Given the description of an element on the screen output the (x, y) to click on. 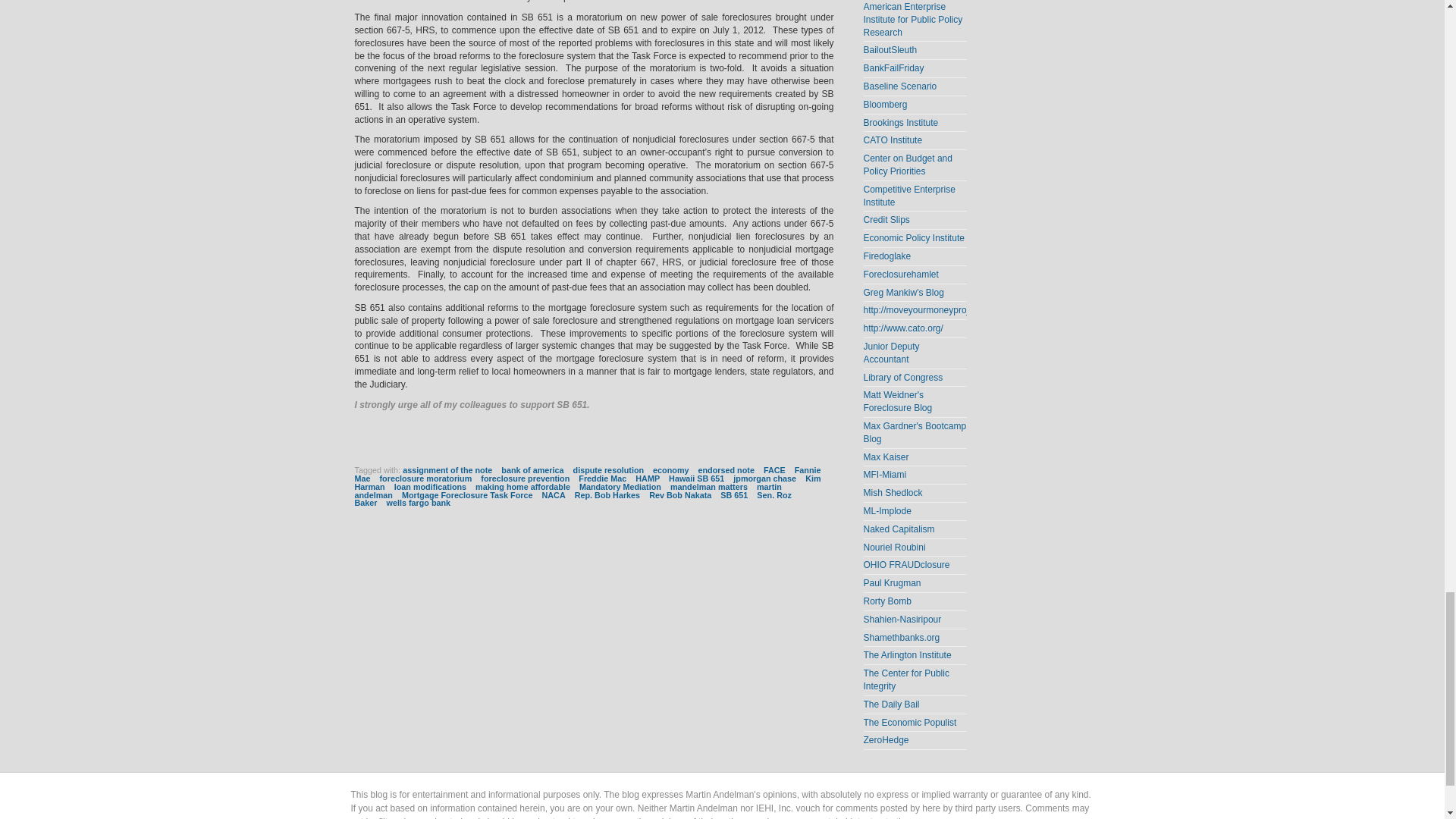
foreclosure prevention (524, 478)
HAMP (646, 478)
ML-Implode (887, 511)
FACE (774, 470)
Mandatory Mediation (620, 486)
economy (670, 470)
Fannie Mae (588, 474)
Hawaii SB 651 (695, 478)
mandelman matters (708, 486)
loan modifications (429, 486)
